Given the description of an element on the screen output the (x, y) to click on. 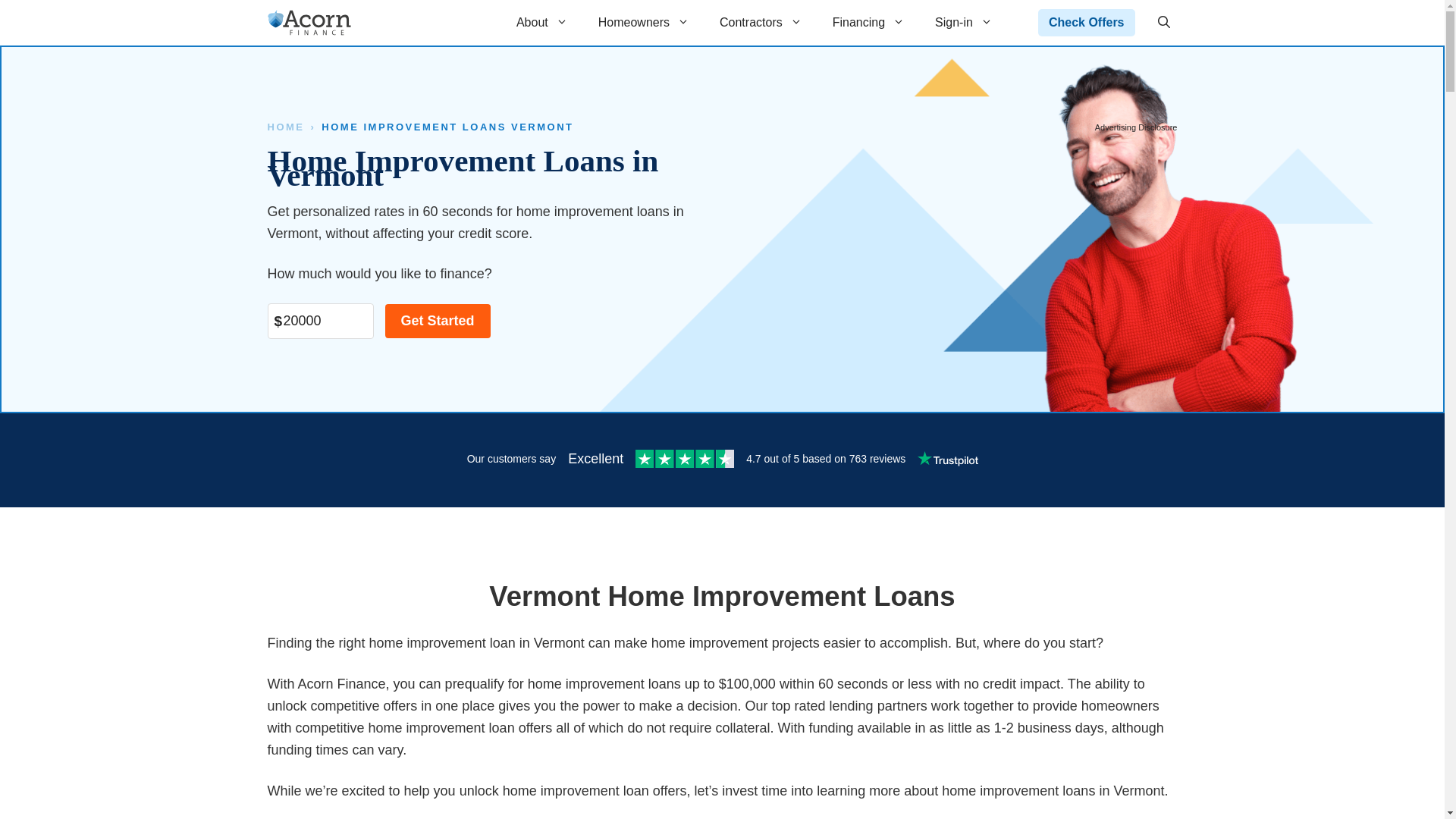
20000 (319, 321)
Get Started (437, 320)
About (541, 22)
Homeowners (643, 22)
Customer reviews powered by Trustpilot (721, 459)
